Given the description of an element on the screen output the (x, y) to click on. 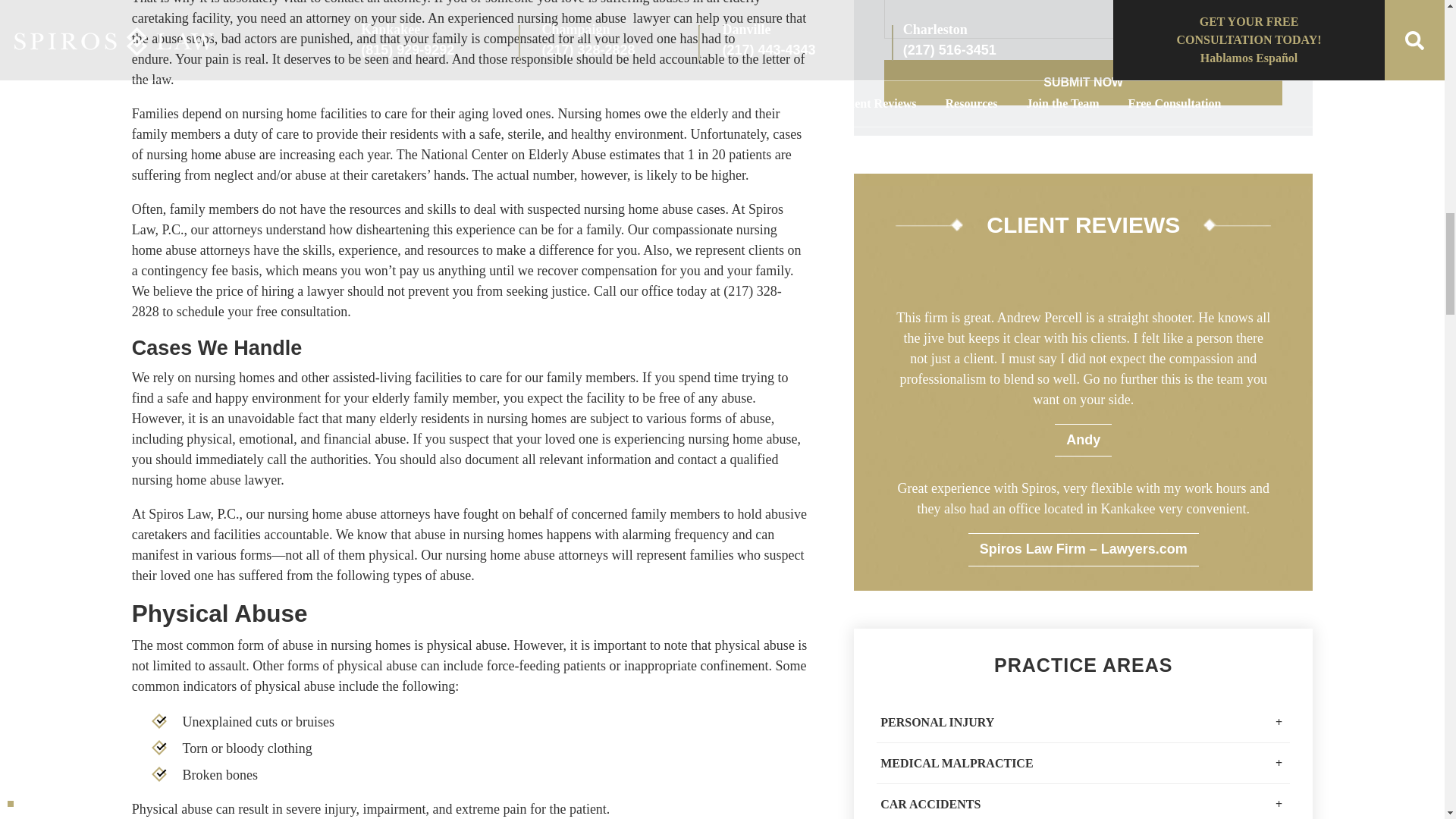
Submit Now (1082, 82)
Submit Now (1082, 82)
